Given the description of an element on the screen output the (x, y) to click on. 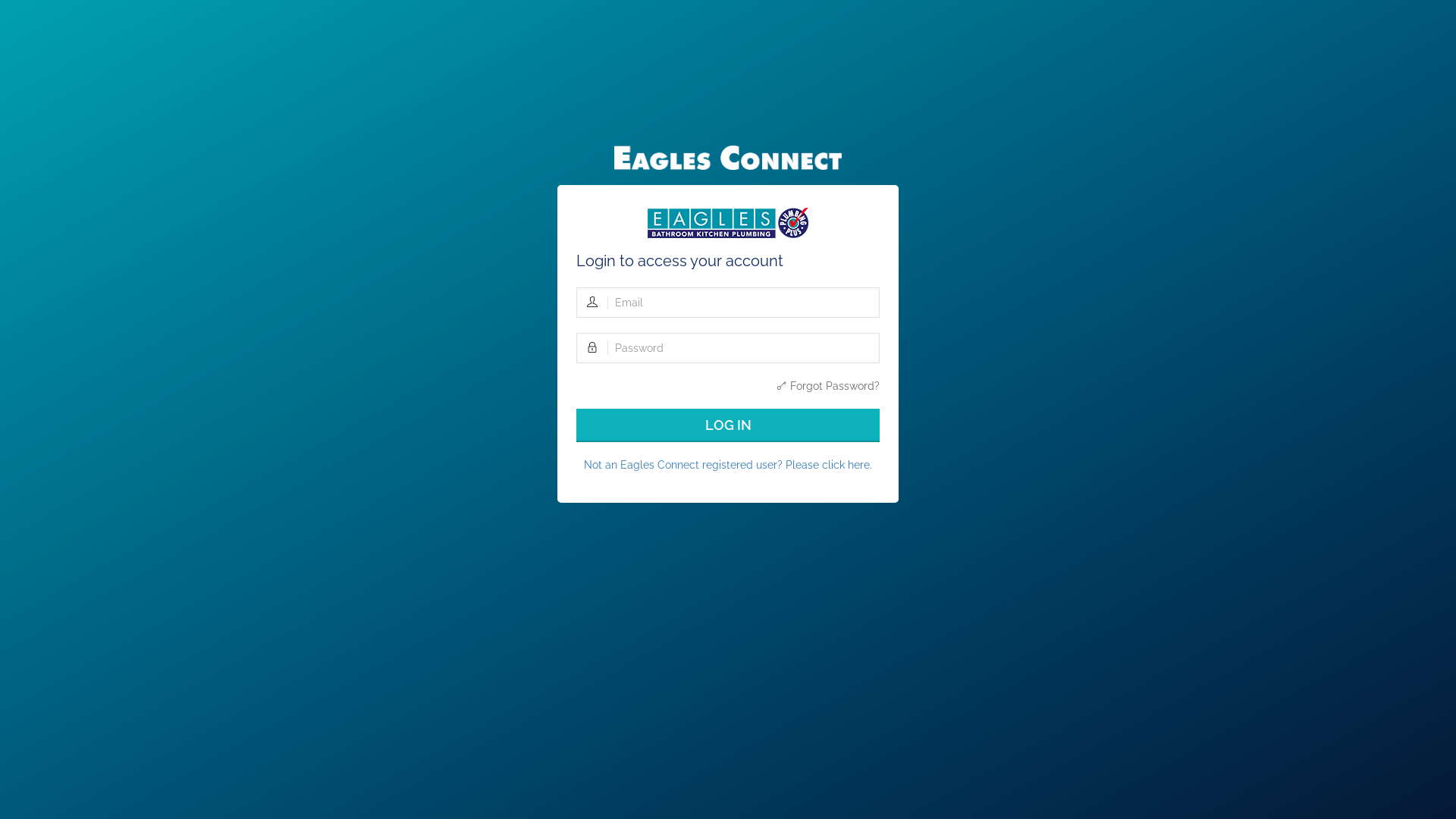
LOG IN Element type: text (727, 425)
Not an Eagles Connect registered user? Please click here. Element type: text (727, 464)
Forgot Password? Element type: text (827, 385)
